Given the description of an element on the screen output the (x, y) to click on. 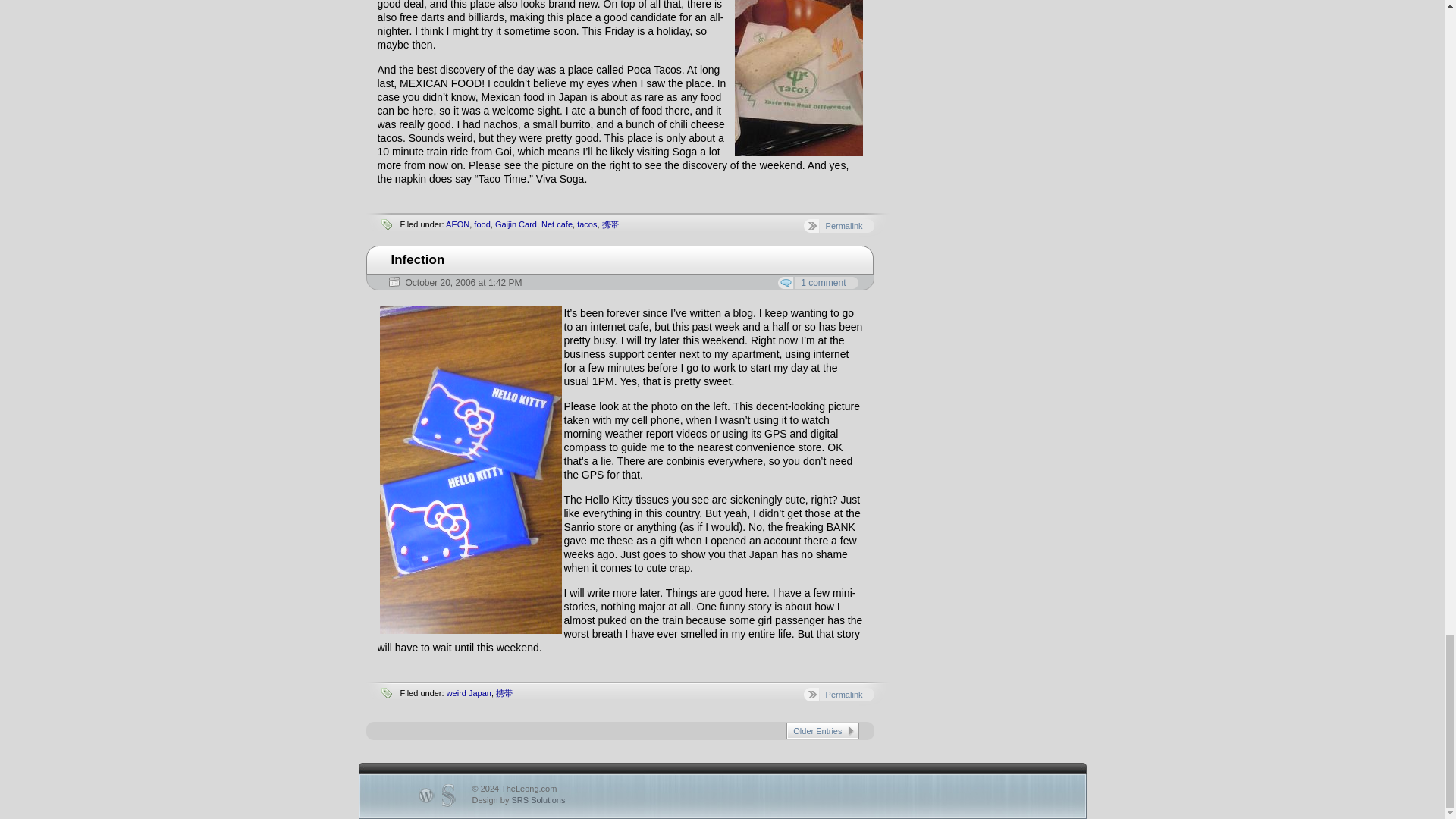
Permalink to Infection (418, 259)
AEON (456, 224)
Web Design by SRS Solutions (517, 799)
